Given the description of an element on the screen output the (x, y) to click on. 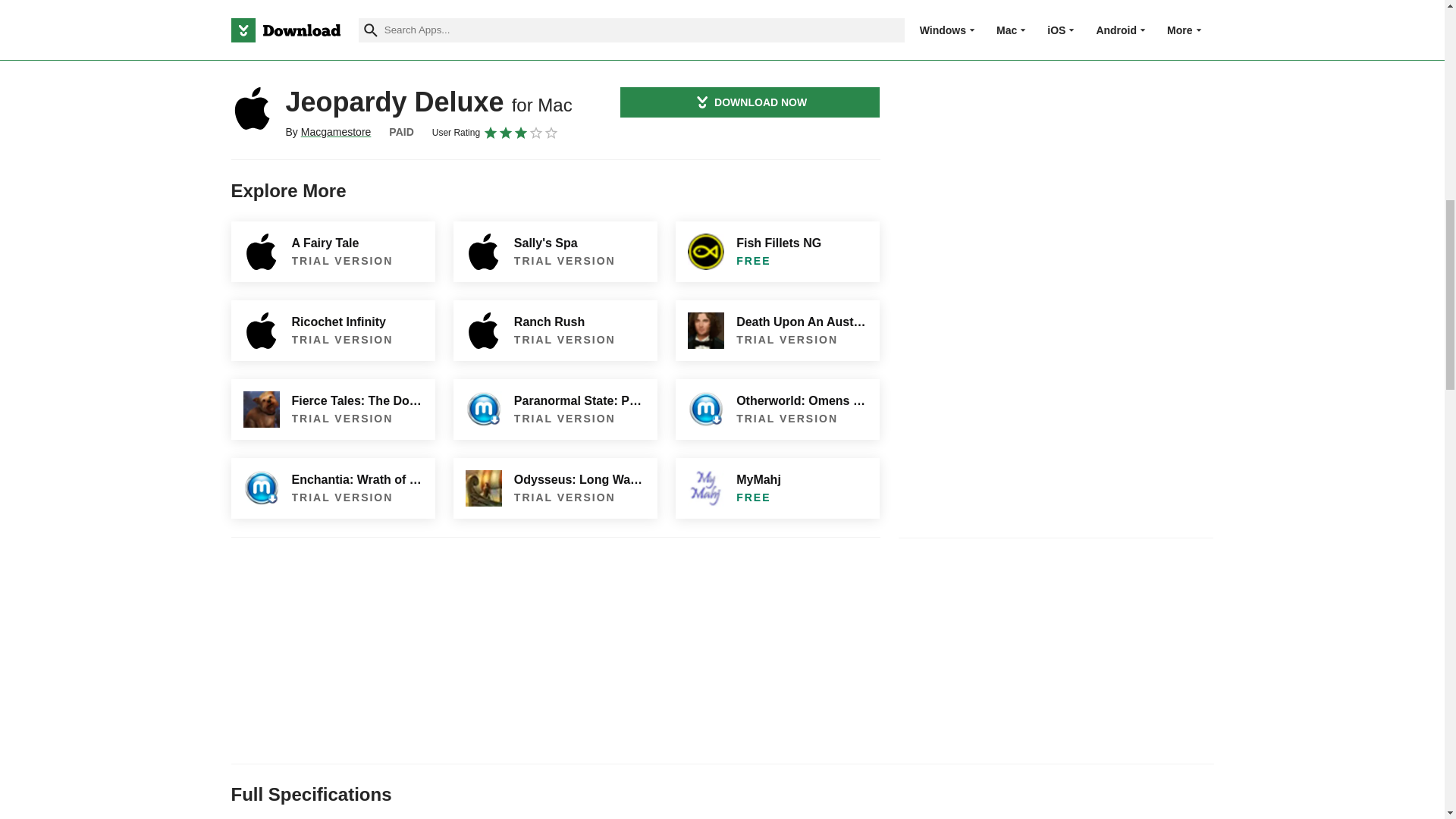
Paranormal State: Poison Spring Platinum Edition (555, 409)
Fierce Tales: The Dog's Heart Collector's Edition (331, 409)
Death Upon An Austrian Sonata: A Dana Knightstone Novel (777, 330)
Enchantia: Wrath of the Phoenix Queen (331, 487)
MyMahj (777, 487)
A Fairy Tale (331, 251)
Otherworld: Omens Of Summer (777, 409)
Jeopardy Deluxe for Mac (251, 107)
Ricochet Infinity (331, 330)
Ranch Rush (555, 330)
Sally's Spa (555, 251)
Odysseus: Long Way Home (555, 487)
Fish Fillets NG (777, 251)
